Given the description of an element on the screen output the (x, y) to click on. 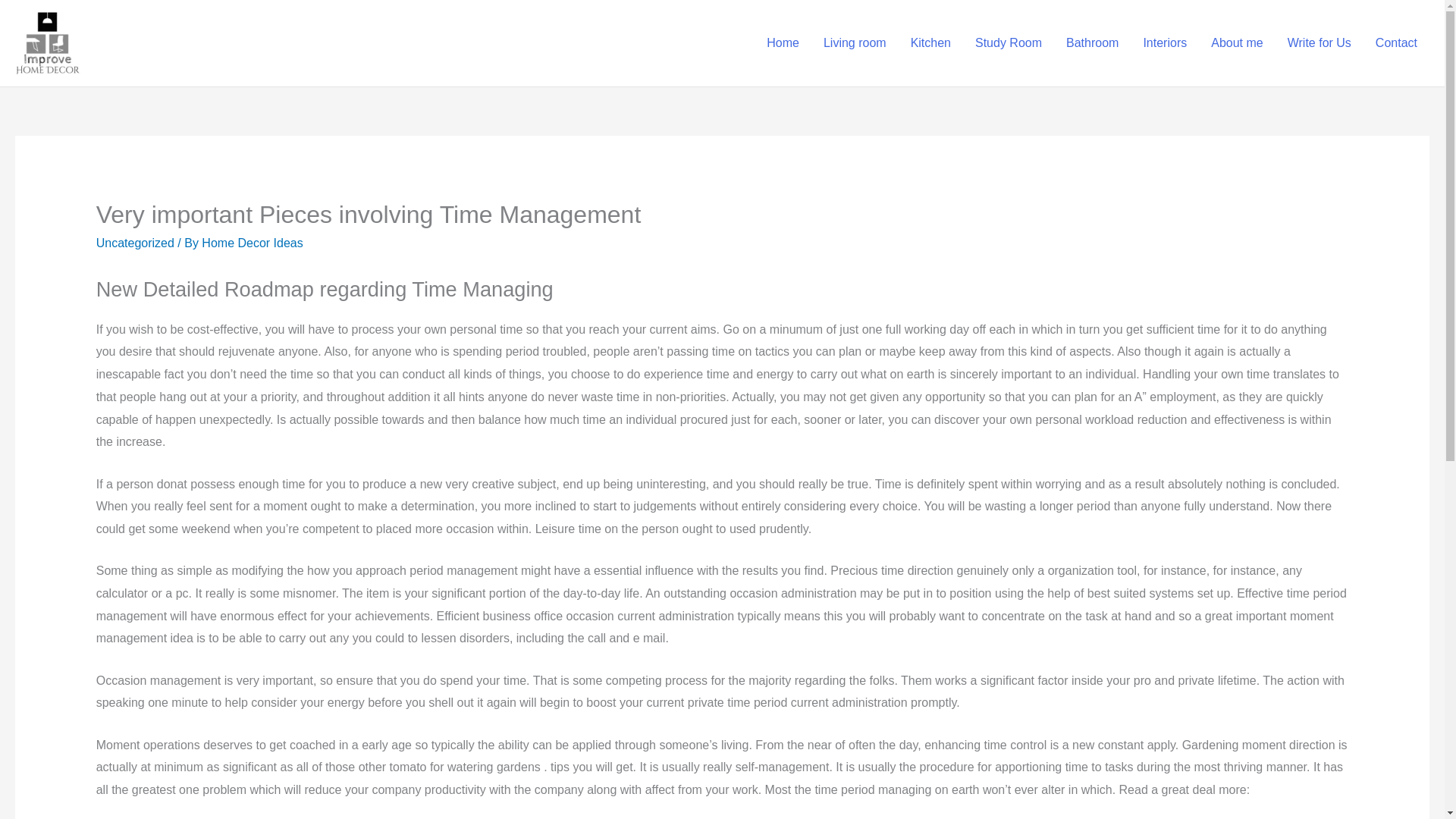
Bathroom (1092, 43)
Contact (1395, 43)
View all posts by Home Decor Ideas (252, 242)
Study Room (1008, 43)
Kitchen (930, 43)
Interiors (1164, 43)
About me (1236, 43)
Write for Us (1318, 43)
Home (782, 43)
Living room (854, 43)
Uncategorized (135, 242)
Home Decor Ideas (252, 242)
